Given the description of an element on the screen output the (x, y) to click on. 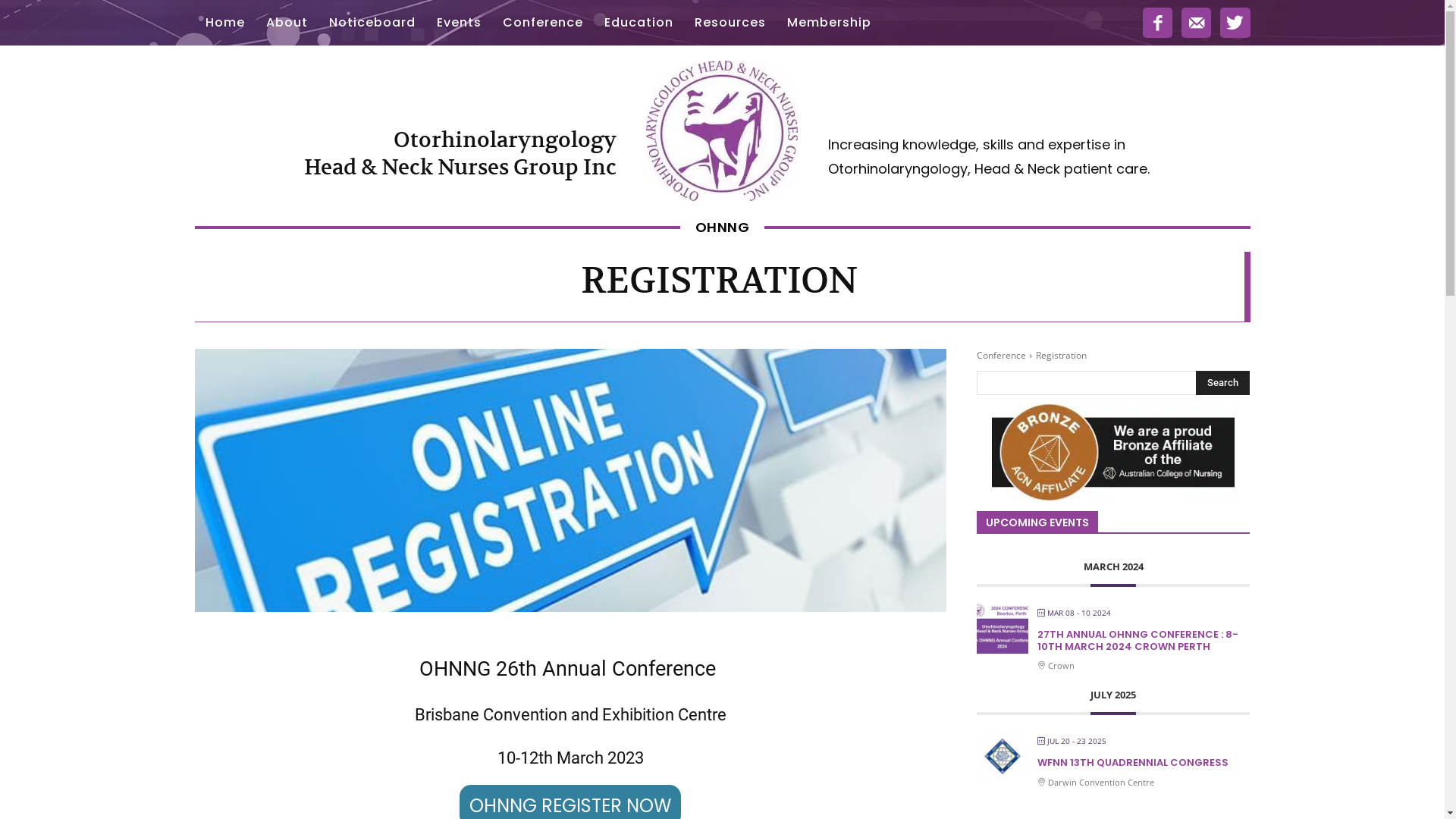
Noticeboard Element type: text (372, 22)
WFNN 13TH QUADRENNIAL CONGRESS Element type: text (1132, 762)
Conference Element type: text (1001, 354)
Twitter Element type: hover (1234, 22)
Mail Element type: hover (1196, 22)
Membership Element type: text (828, 22)
Otorhinolaryngology
Head & Neck Nurses Group Inc Element type: text (460, 153)
Events Element type: text (459, 22)
Facebook Element type: hover (1157, 22)
Education Element type: text (638, 22)
Resources Element type: text (730, 22)
Search Element type: text (1222, 382)
Home Element type: text (224, 22)
Otorhinolaryngology, Head & Neck surgery Element type: hover (721, 130)
27TH ANNUAL OHNNG CONFERENCE : 8-10TH MARCH 2024 CROWN PERTH Element type: text (1137, 640)
About Element type: text (285, 22)
Conference Element type: text (542, 22)
